Given the description of an element on the screen output the (x, y) to click on. 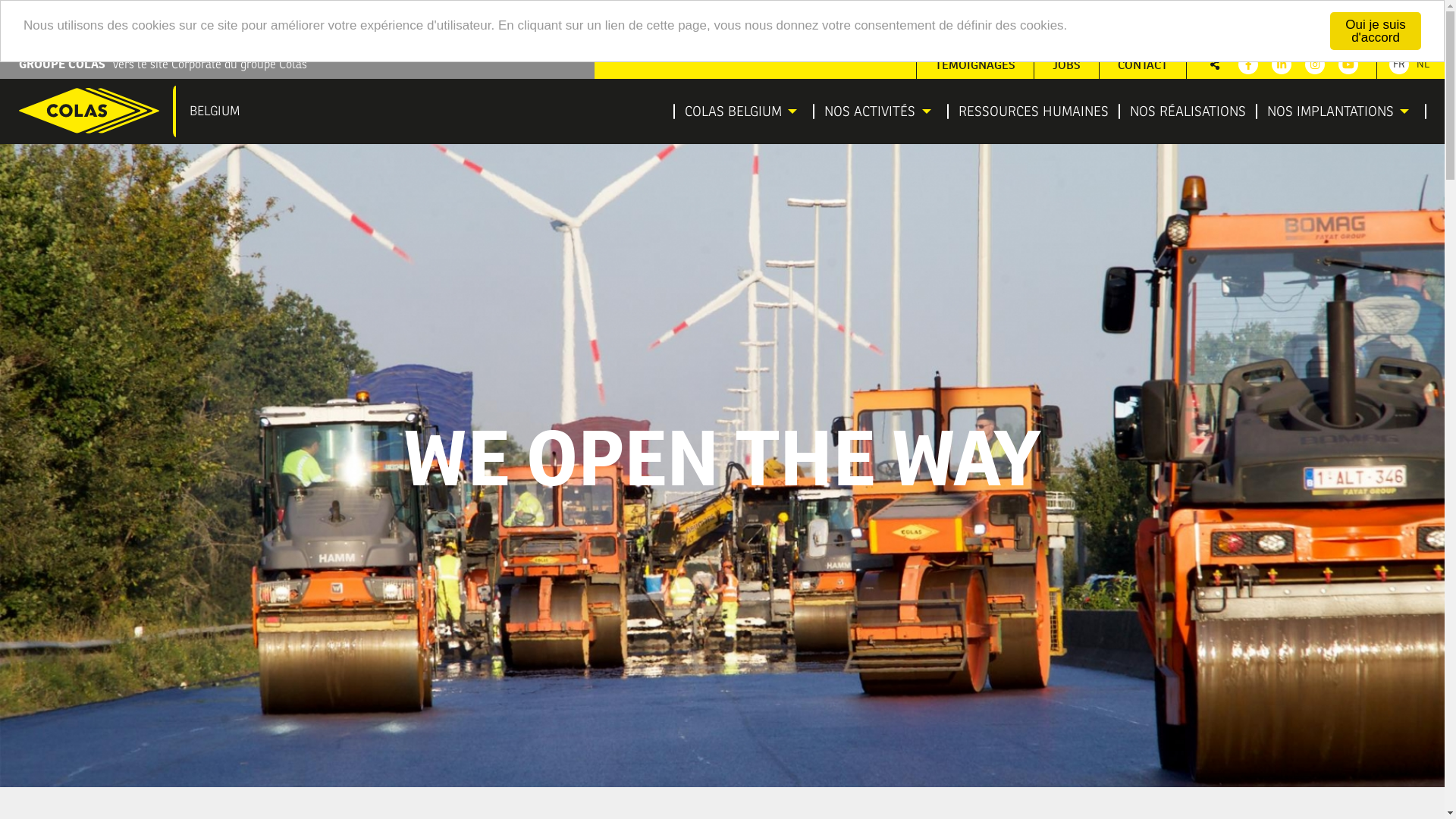
GROUPE COLAS Element type: text (61, 64)
FR Element type: text (1398, 64)
Youtube Element type: text (1348, 64)
Partager Element type: text (1214, 64)
Linkedin Element type: text (1281, 64)
Facebook Element type: text (1248, 64)
JOBS Element type: text (1065, 64)
Oui je suis d'accord Element type: text (1375, 31)
COLAS BELGIUM Element type: text (736, 111)
Aller au contenu principal Element type: text (0, 50)
RESSOURCES HUMAINES Element type: text (1033, 111)
BELGIUM Element type: text (136, 110)
Instagram Element type: text (1314, 64)
NL Element type: text (1422, 64)
NOS IMPLANTATIONS Element type: text (1333, 111)
CONTACT Element type: text (1142, 64)
